Given the description of an element on the screen output the (x, y) to click on. 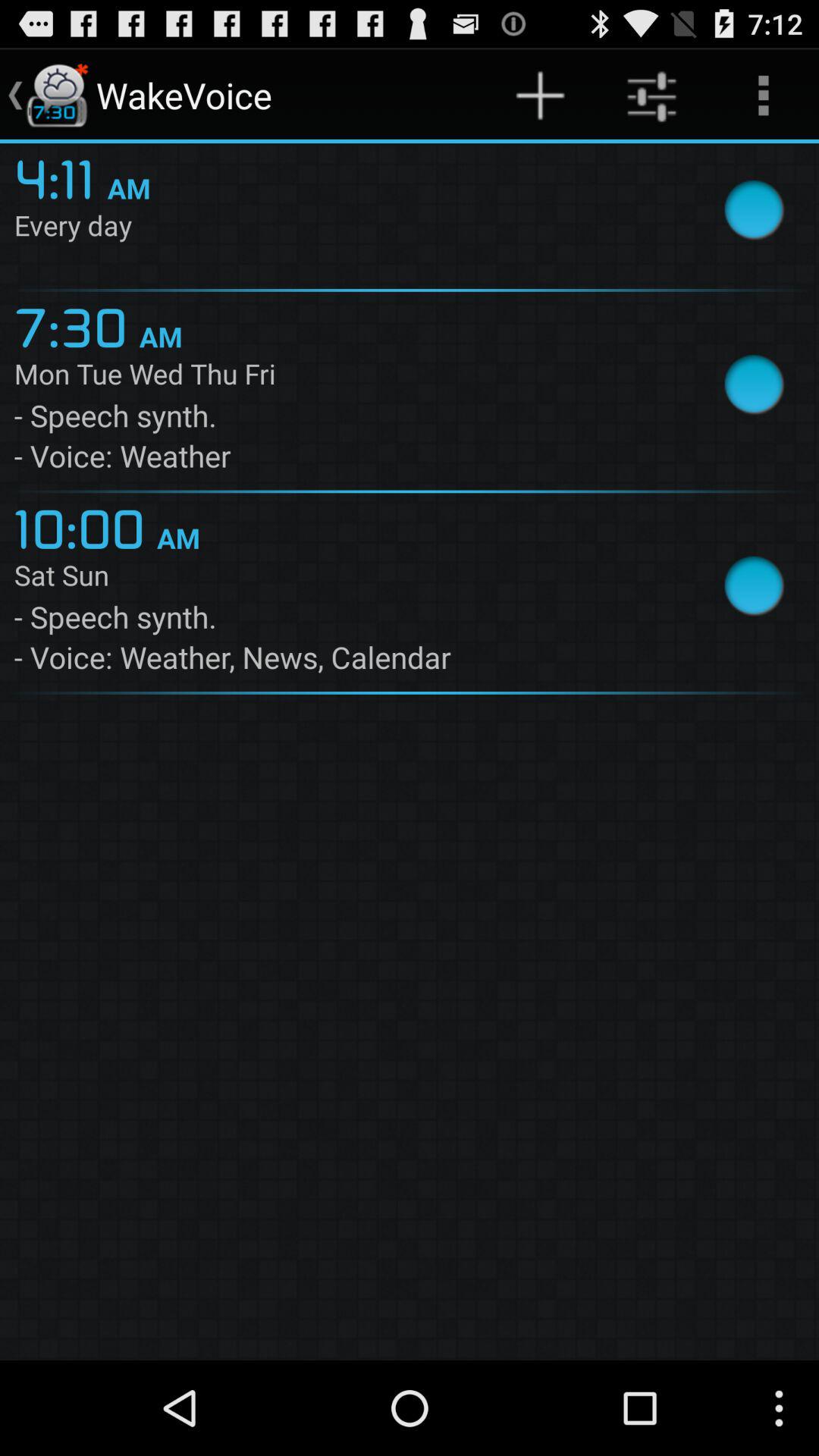
jump until the every day app (343, 228)
